Given the description of an element on the screen output the (x, y) to click on. 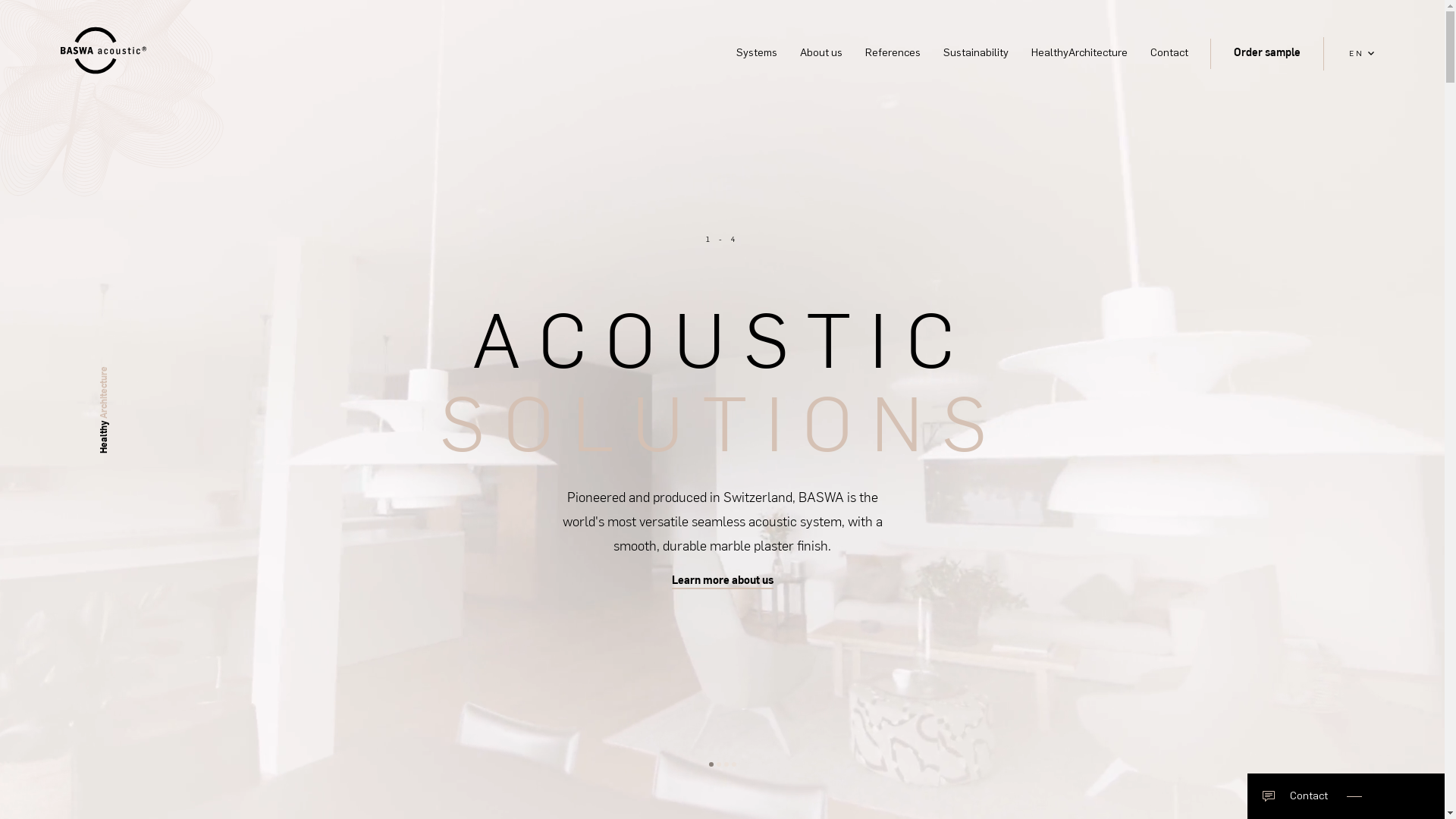
References Element type: text (892, 53)
Contact Element type: text (1168, 53)
zur Startseite Element type: hover (109, 52)
HealthyArchitecture Element type: text (1079, 53)
Learn more about us Element type: text (722, 580)
EN Element type: text (1361, 53)
Order sample Element type: text (1266, 51)
Systems Element type: text (756, 53)
About us Element type: text (821, 53)
Sustainability Element type: text (975, 53)
